Given the description of an element on the screen output the (x, y) to click on. 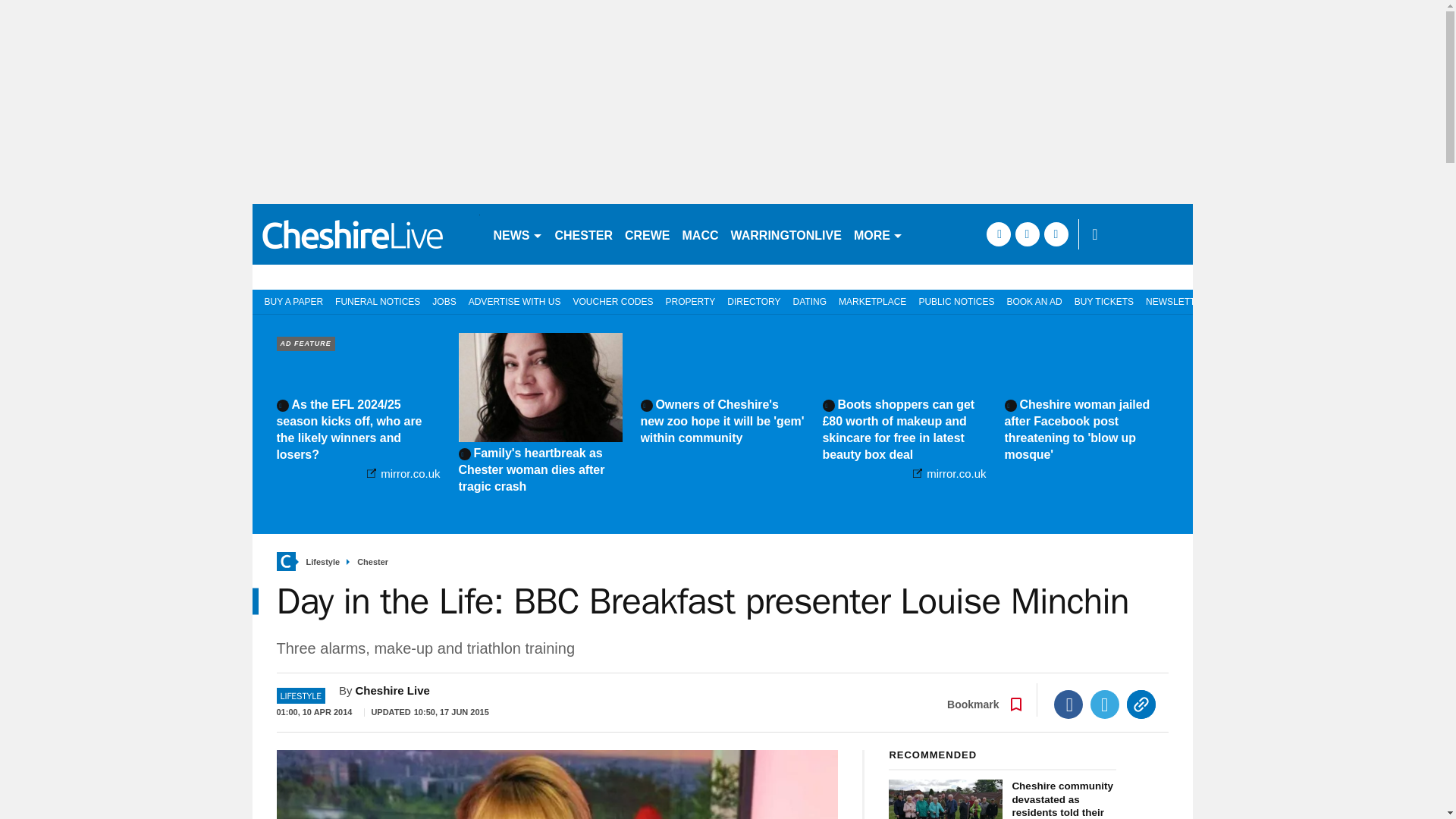
Facebook (1068, 704)
CHESTER (583, 233)
chesterchronicle (365, 233)
instagram (1055, 233)
Twitter (1104, 704)
facebook (997, 233)
WARRINGTONLIVE (786, 233)
MORE (877, 233)
NEWS (517, 233)
twitter (1026, 233)
